Given the description of an element on the screen output the (x, y) to click on. 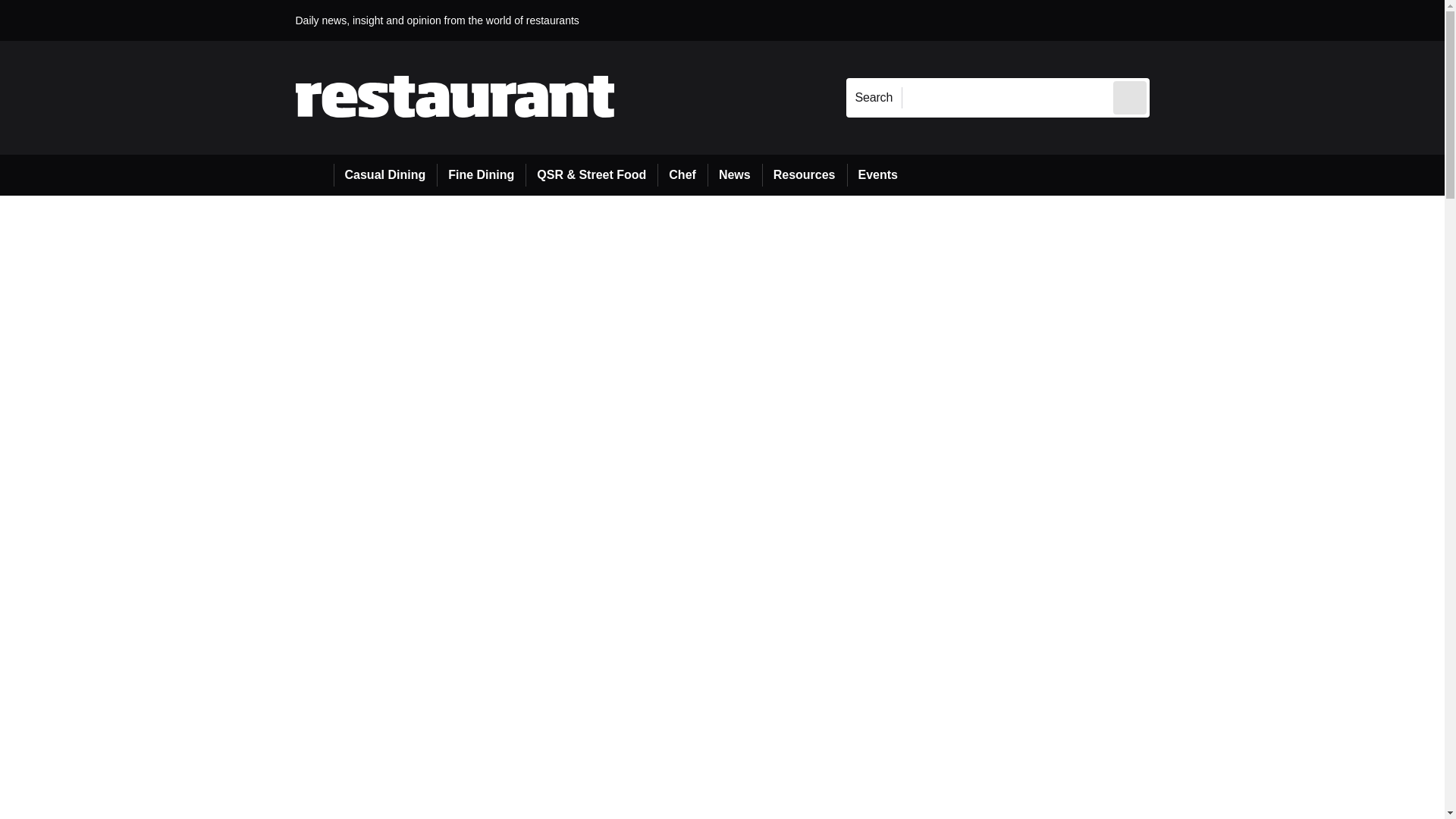
REGISTER (1250, 20)
Home (314, 174)
Send (1129, 97)
Sign out (1174, 20)
Send (1129, 97)
Casual Dining (385, 174)
Fine Dining (480, 174)
Home (313, 174)
News (734, 174)
Resources (804, 174)
